Given the description of an element on the screen output the (x, y) to click on. 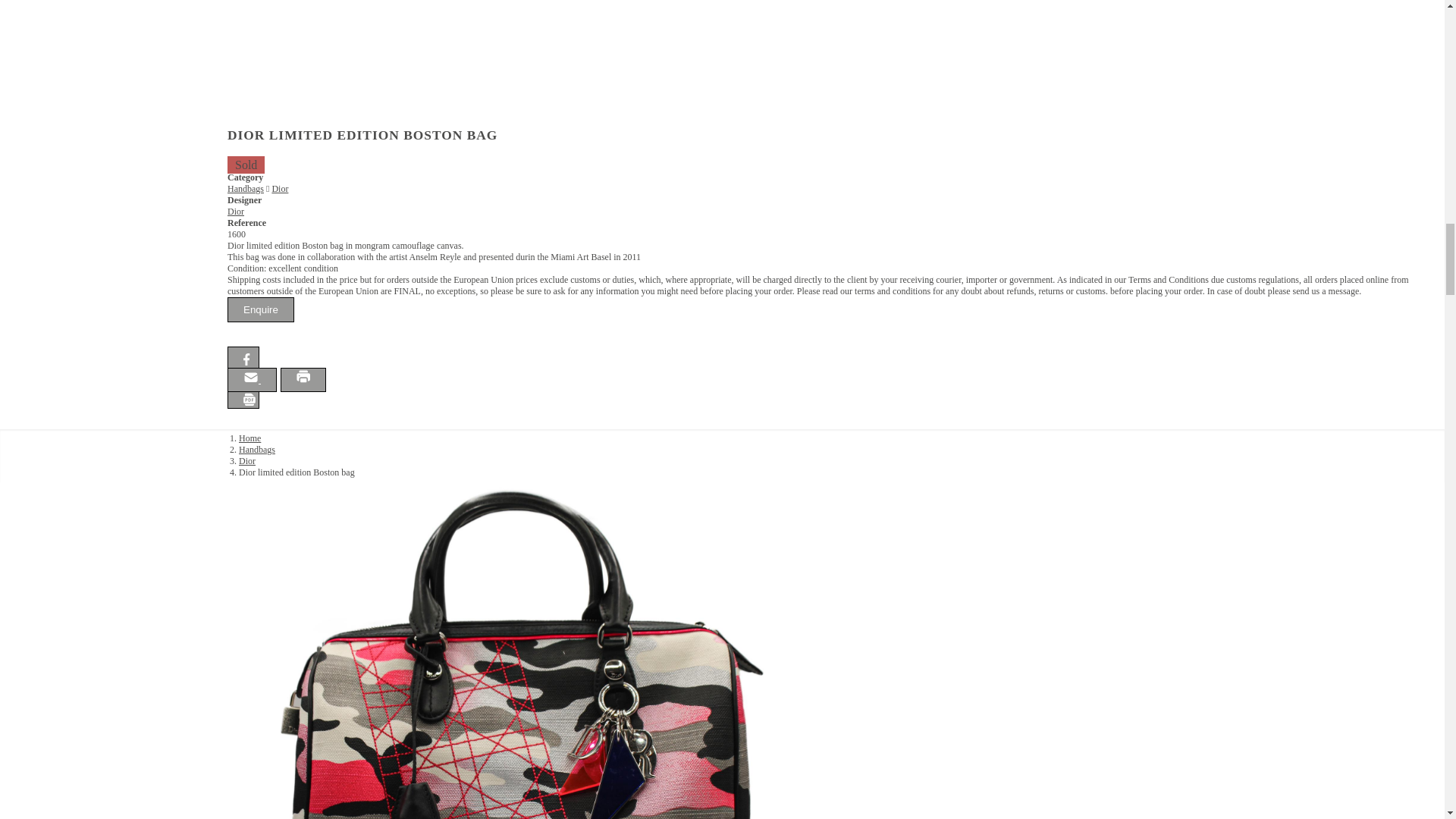
Summer Hermes Special Prices (68, 491)
CHANEL FRESH DEALS (60, 503)
Vuitton Sunny discounts (55, 516)
Handbag Authentication Service (70, 479)
Lifestyle (27, 466)
